Given the description of an element on the screen output the (x, y) to click on. 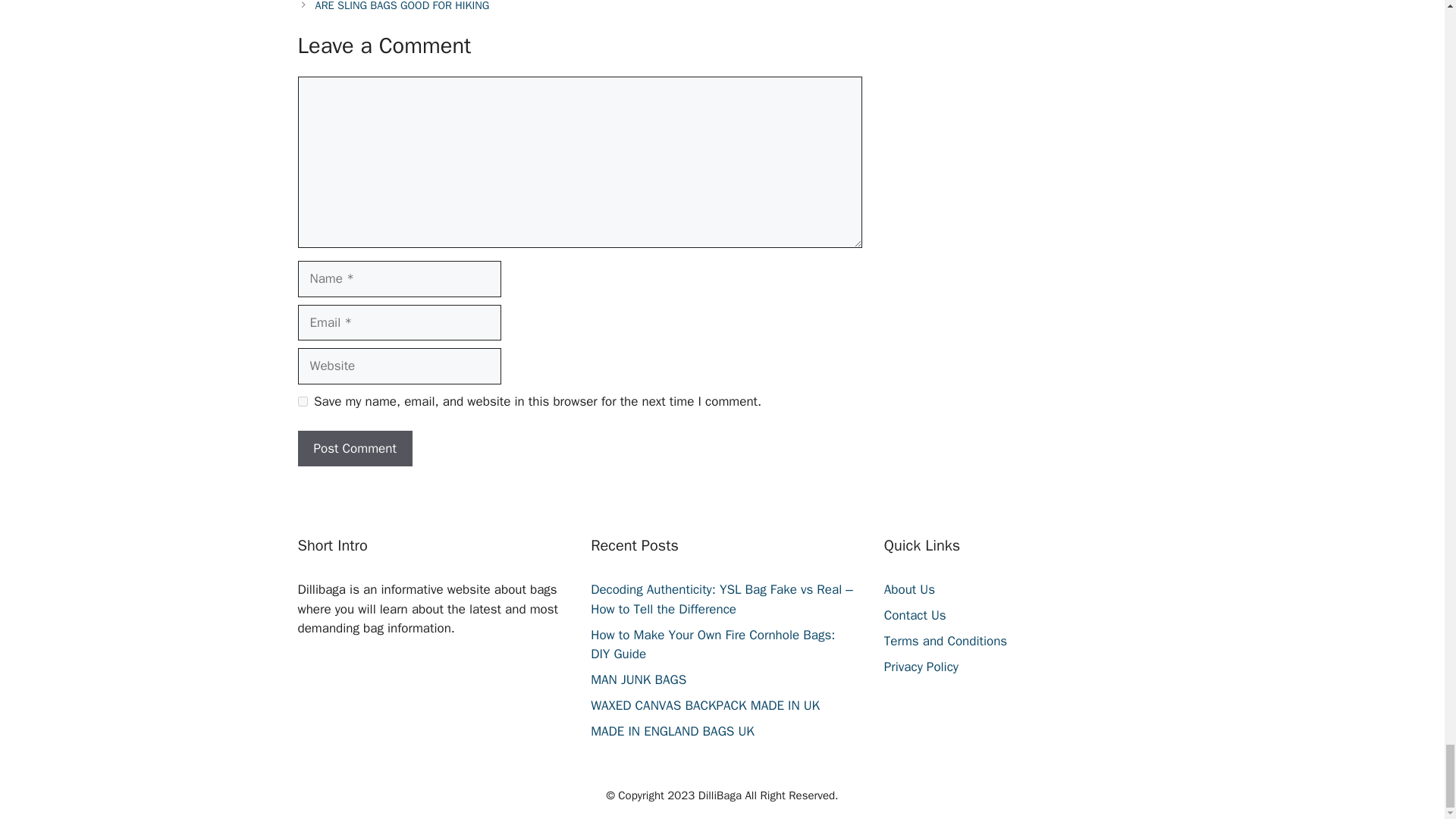
Post Comment (354, 448)
yes (302, 401)
